Given the description of an element on the screen output the (x, y) to click on. 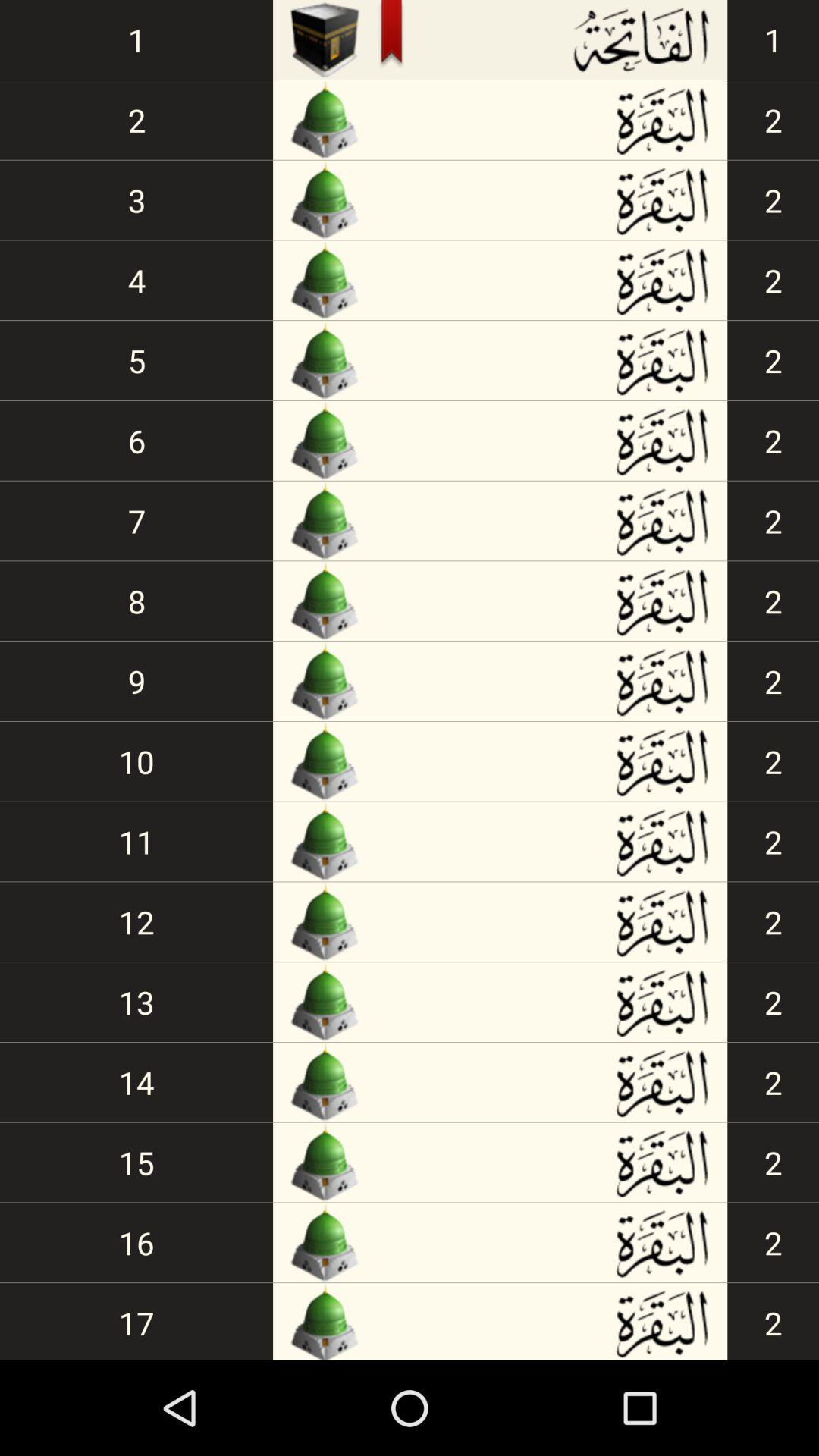
turn on the item below the 15 app (136, 1242)
